Given the description of an element on the screen output the (x, y) to click on. 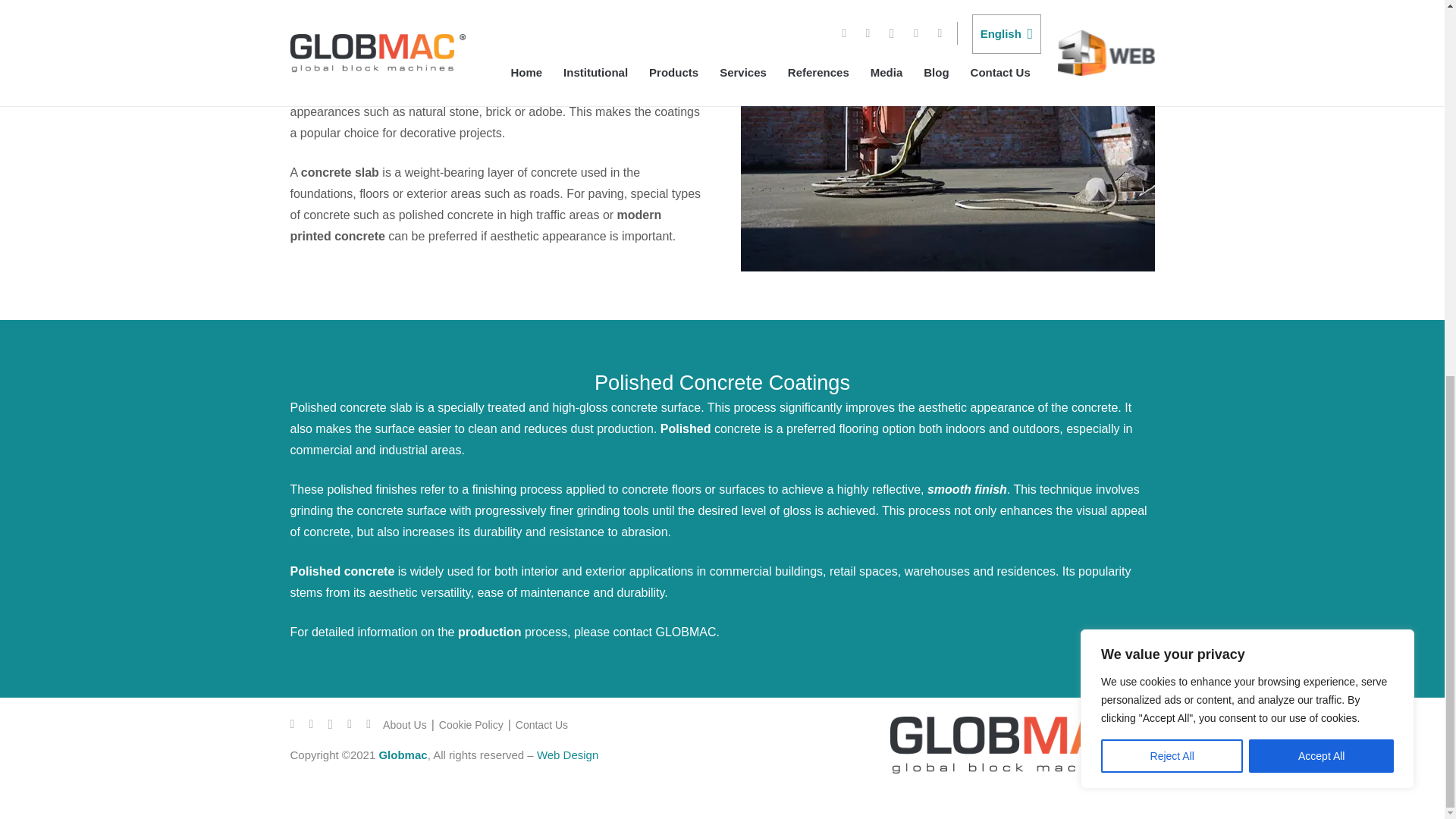
Reject All (1171, 62)
Back to top (1413, 156)
Accept All (1321, 62)
